Given the description of an element on the screen output the (x, y) to click on. 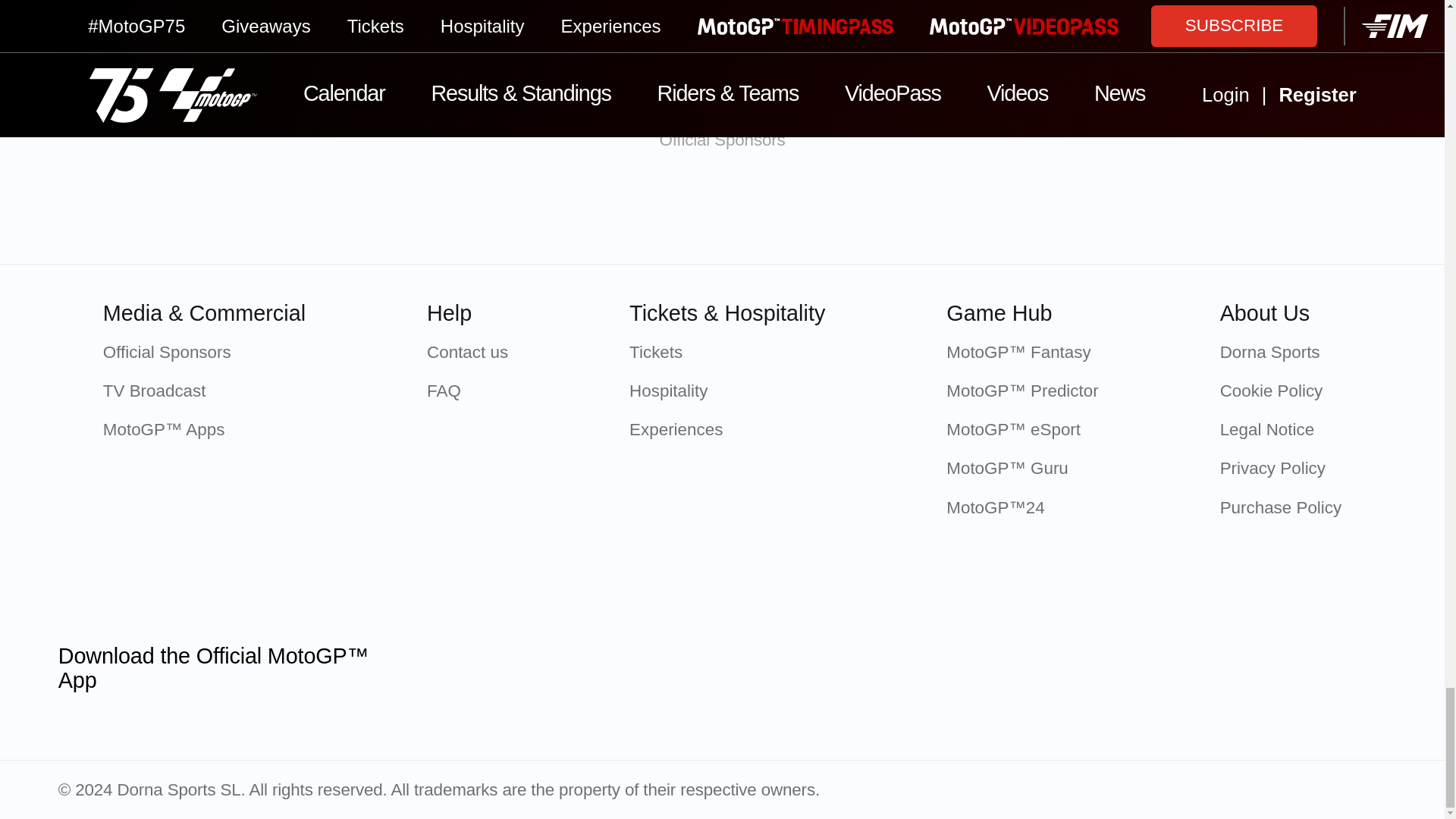
DHL (1122, 211)
BMW M (802, 211)
QATAR (321, 211)
ESTRELLA GALICIA (962, 211)
TISSOT (481, 211)
MICHELIN (642, 211)
